Given the description of an element on the screen output the (x, y) to click on. 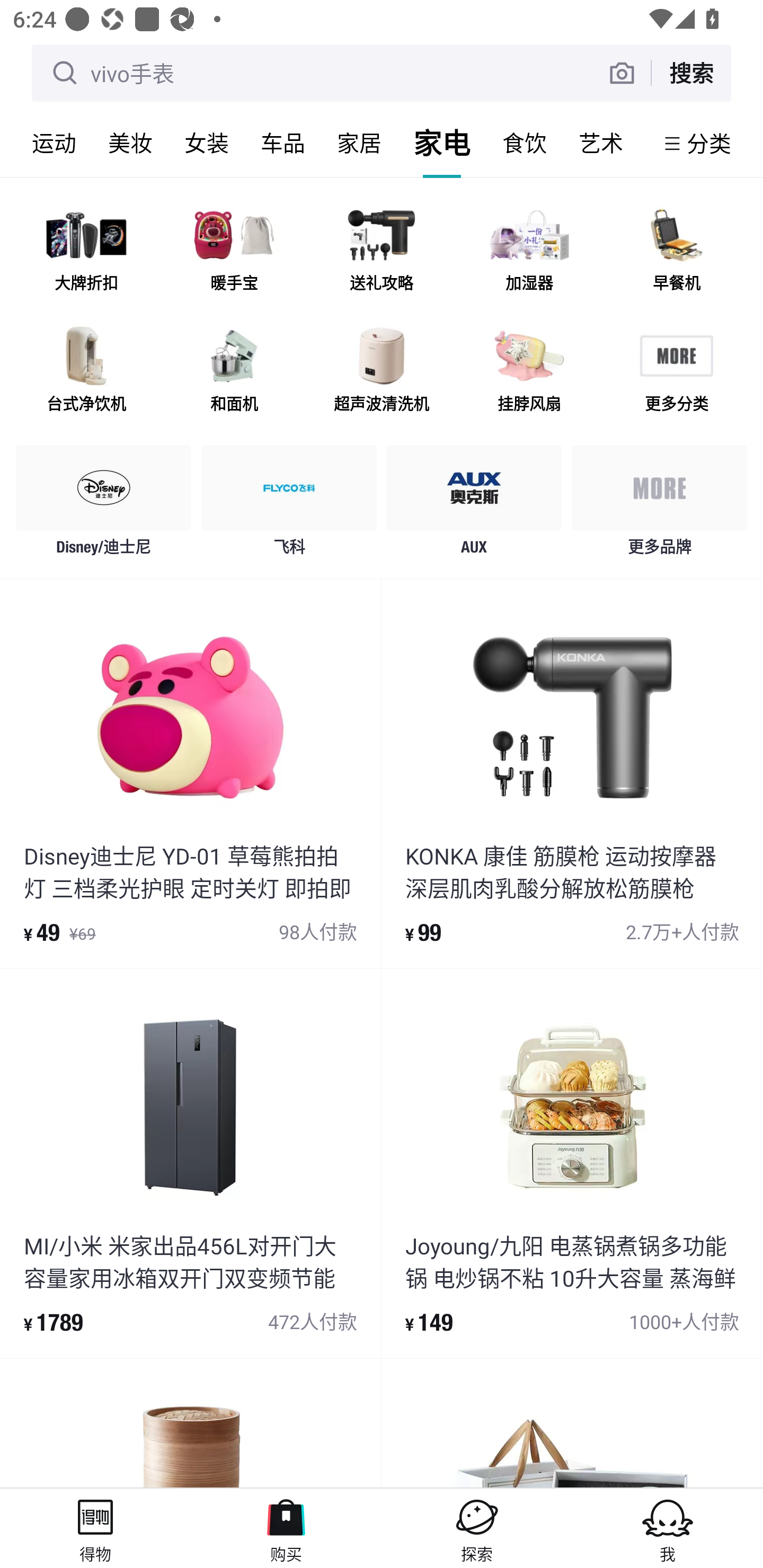
搜索 (690, 72)
运动 (54, 143)
美妆 (130, 143)
女装 (206, 143)
车品 (282, 143)
家居 (359, 143)
家电 (441, 143)
食饮 (524, 143)
艺术 (601, 143)
分类 (708, 143)
大牌折扣 (86, 251)
暖手宝 (233, 251)
送礼攻略 (381, 251)
加湿器 (528, 251)
早餐机 (676, 251)
台式净饮机 (86, 372)
和面机 (233, 372)
超声波清洗机 (381, 372)
挂脖风扇 (528, 372)
更多分类 (676, 372)
Disney/迪士尼 (103, 505)
飞科 (288, 505)
AUX (473, 505)
更多品牌 (658, 505)
得物 (95, 1528)
购买 (285, 1528)
探索 (476, 1528)
我 (667, 1528)
